Given the description of an element on the screen output the (x, y) to click on. 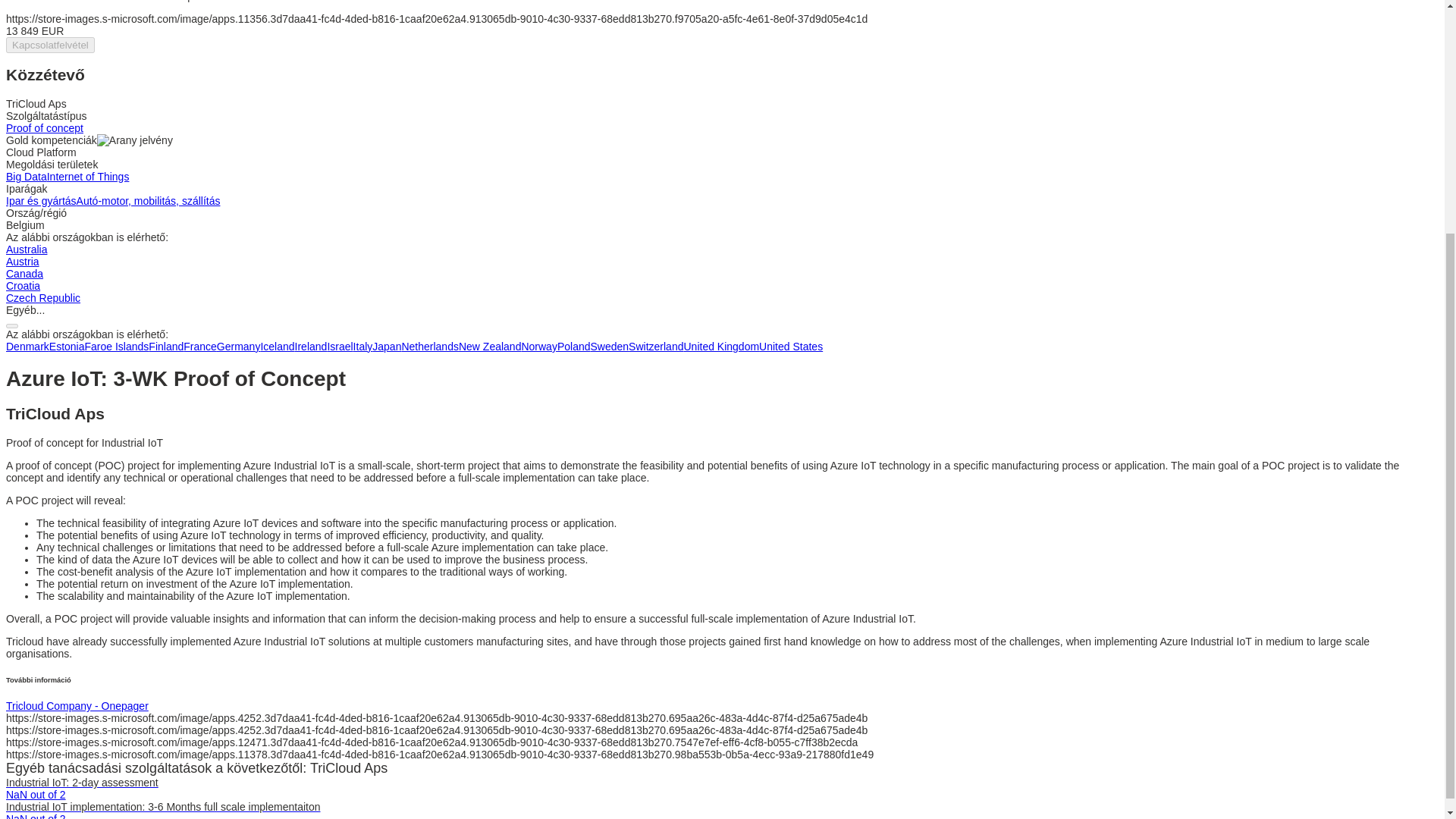
Canada (24, 273)
Denmark (27, 346)
France (199, 346)
Internet of Things (87, 176)
Australia (25, 249)
Faroe Islands (116, 346)
Croatia (22, 285)
Industrial IoT: 2-day assessment (81, 782)
Big Data (25, 176)
Austria (22, 261)
Czech Republic (42, 297)
Estonia (66, 346)
Finland (165, 346)
Iceland (277, 346)
